Given the description of an element on the screen output the (x, y) to click on. 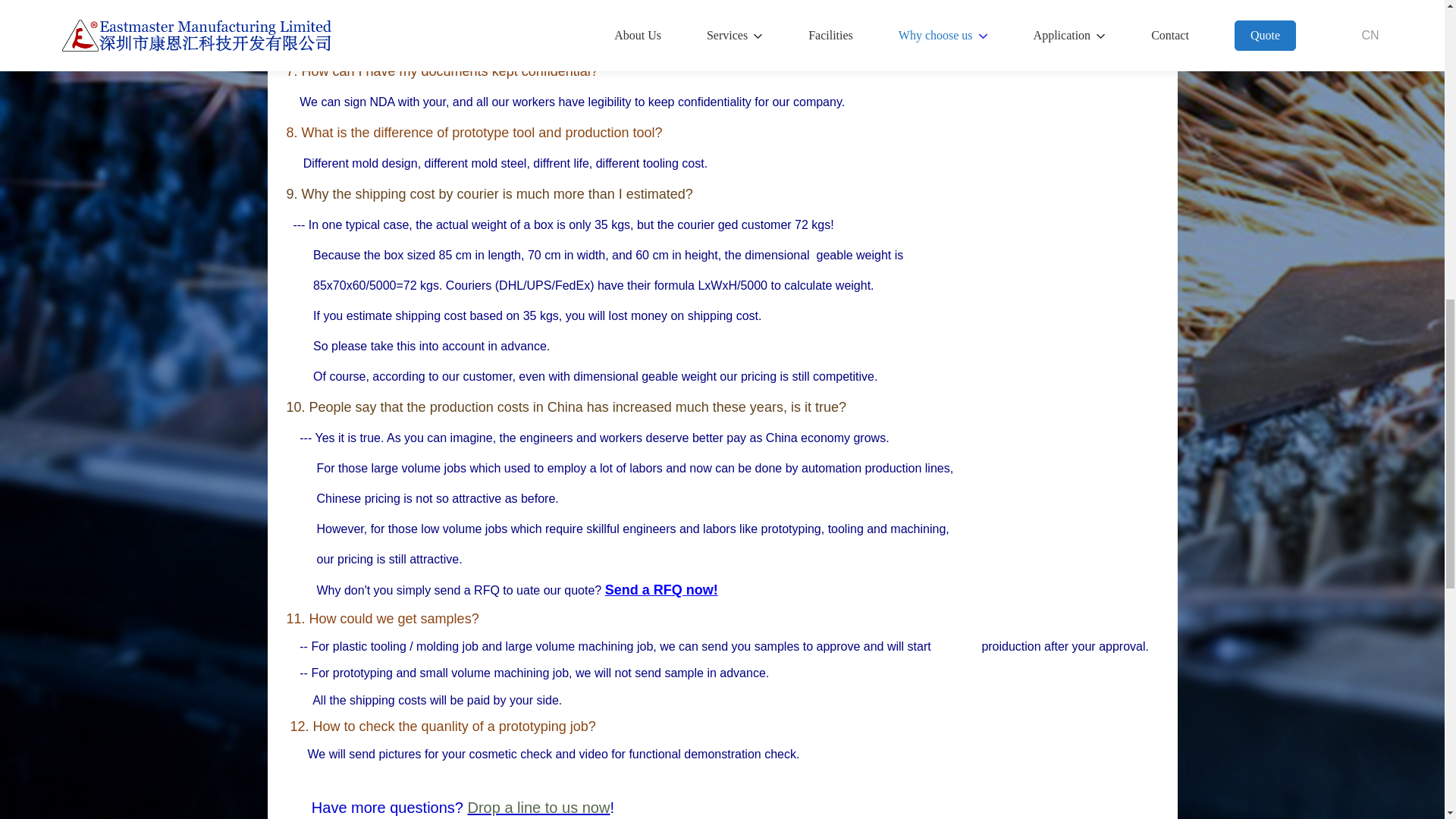
Send a RFQ now! (661, 590)
Drop a line to us now (538, 807)
